Given the description of an element on the screen output the (x, y) to click on. 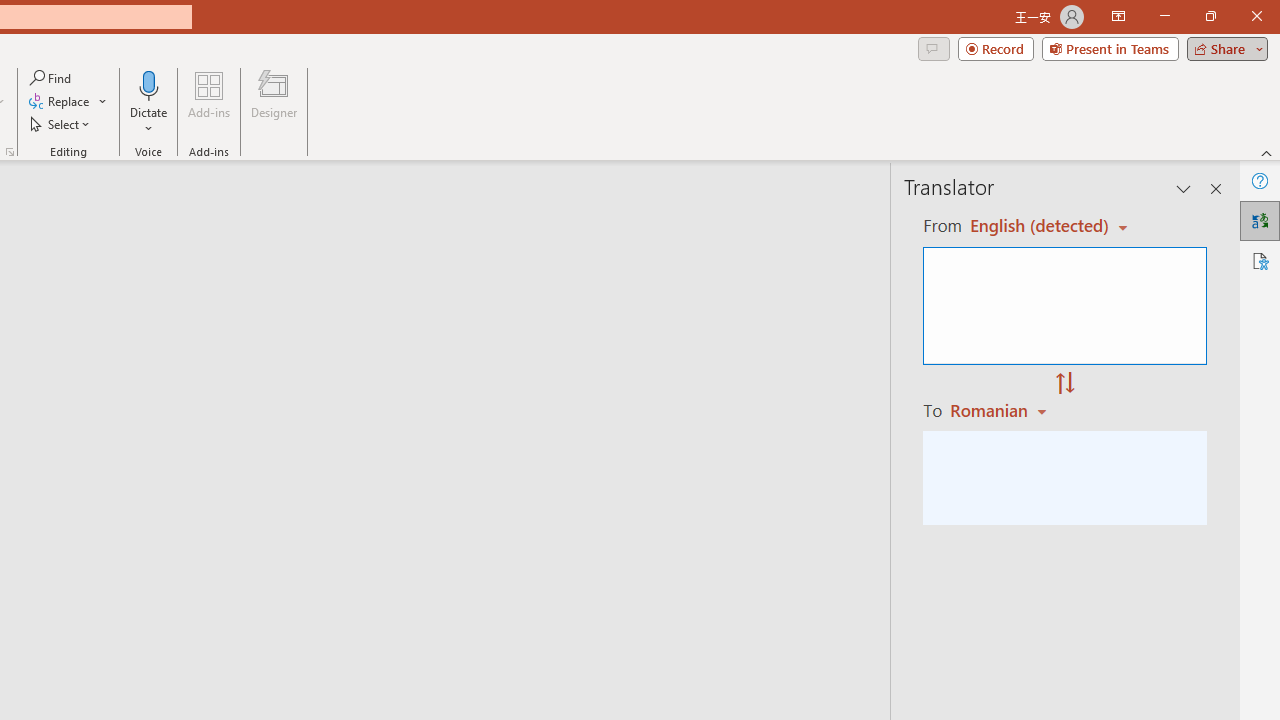
Swap "from" and "to" languages. (1065, 383)
